Given the description of an element on the screen output the (x, y) to click on. 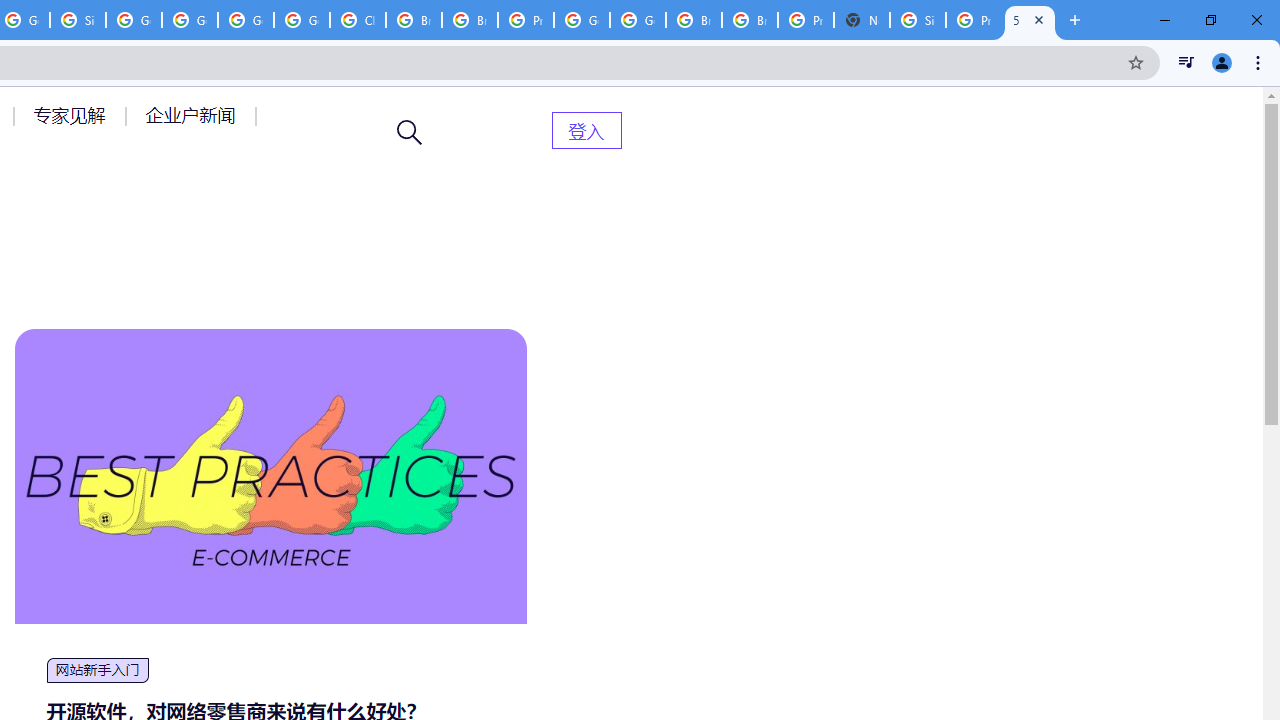
Google Cloud Platform (582, 20)
AutomationID: menu-item-77765 (194, 115)
Open search form (410, 132)
Control your music, videos, and more (1185, 62)
AutomationID: menu-item-82399 (586, 129)
New Tab (861, 20)
Google Cloud Platform (637, 20)
Sign in - Google Accounts (77, 20)
Browse Chrome as a guest - Computer - Google Chrome Help (469, 20)
